Given the description of an element on the screen output the (x, y) to click on. 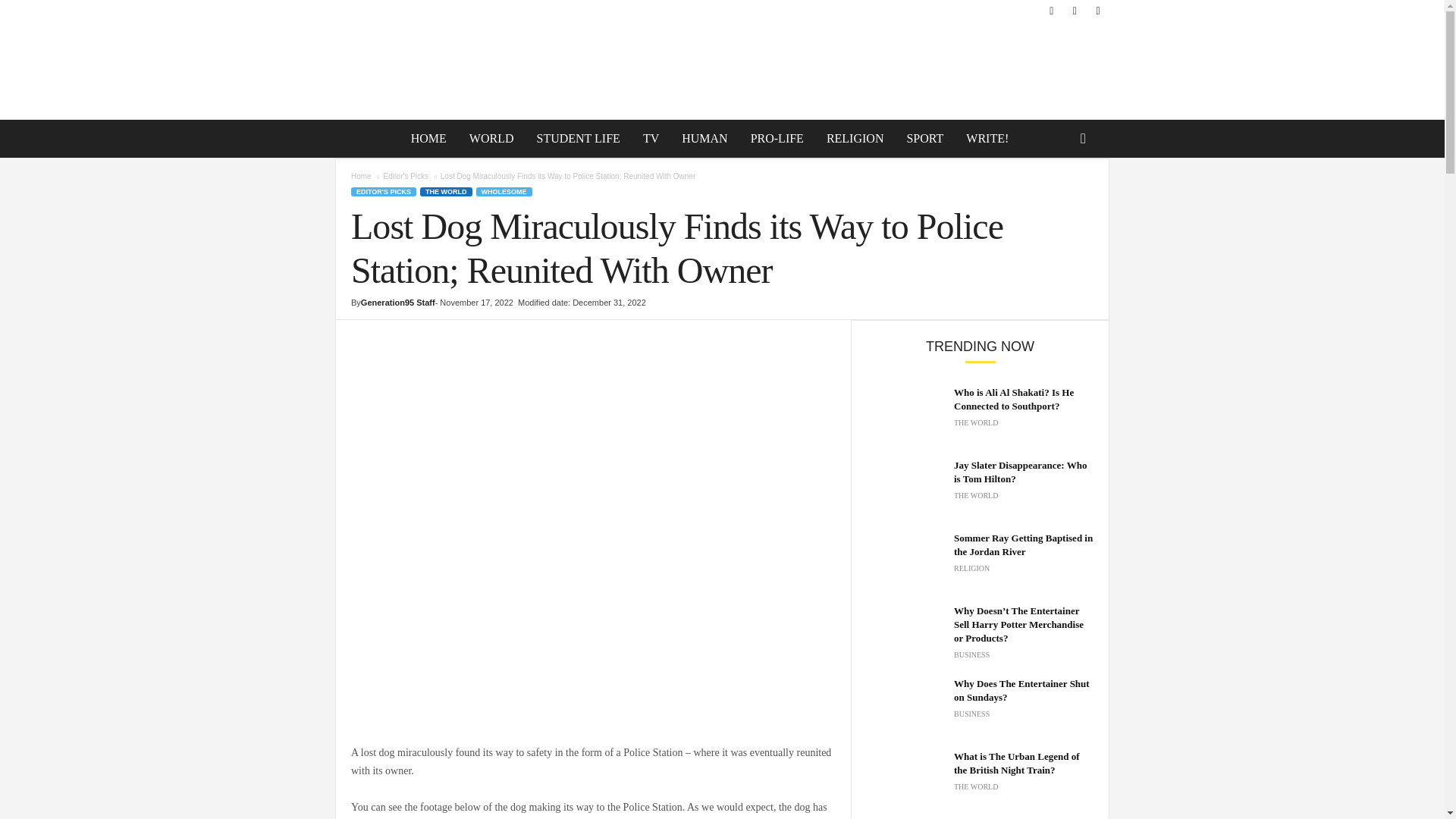
View all posts in Editor's Picks (405, 175)
Generation95 Staff (398, 302)
Home (360, 175)
Twitter (1097, 11)
SPORT (925, 138)
Facebook (1051, 11)
HOME (428, 138)
PRO-LIFE (777, 138)
EDITOR'S PICKS (383, 191)
Editor's Picks (405, 175)
WRITE! (987, 138)
HUMAN (703, 138)
Instagram (1074, 11)
